Given the description of an element on the screen output the (x, y) to click on. 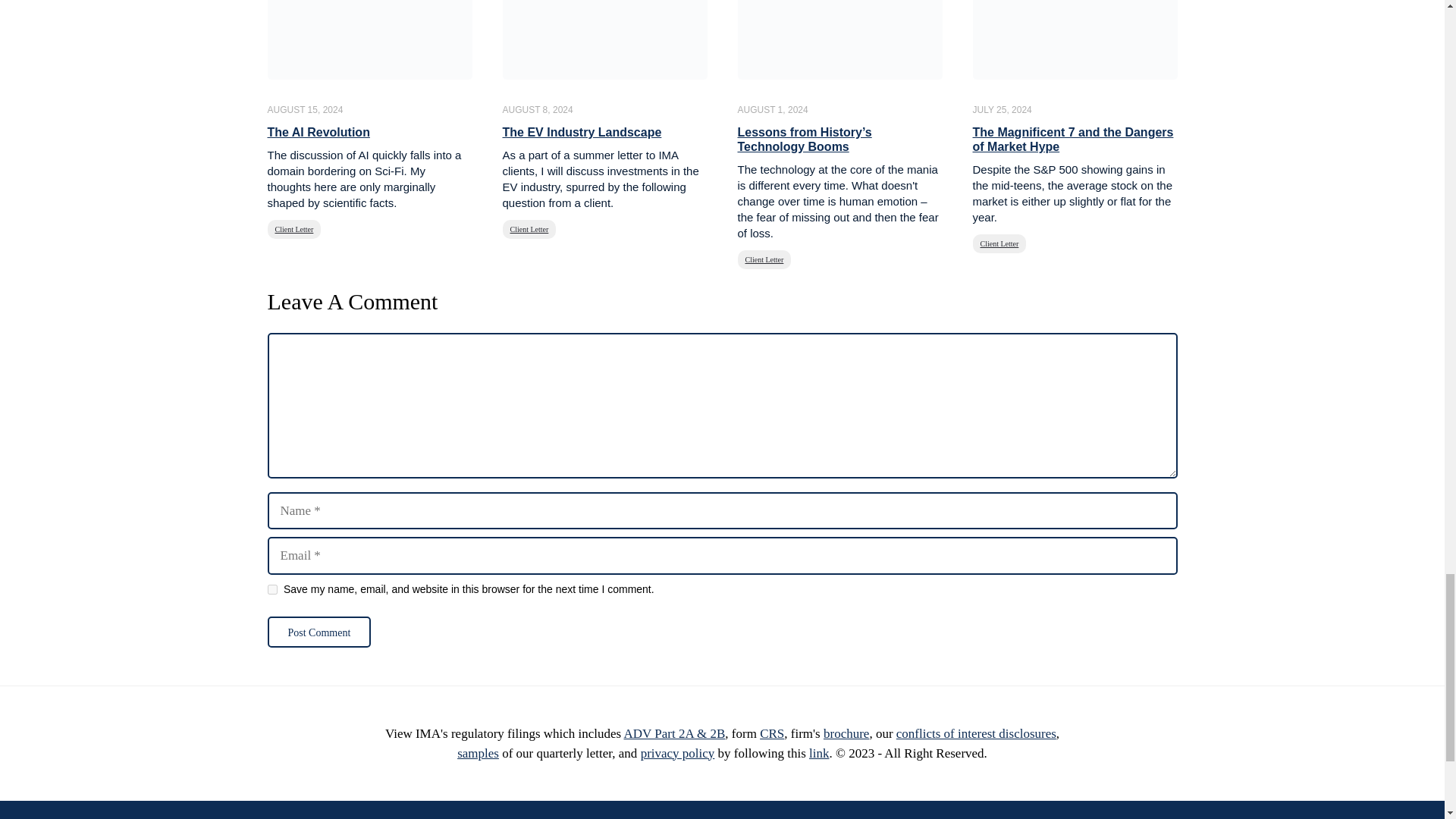
Client Letter (763, 259)
yes (271, 589)
The Magnificent 7 and the Dangers of Market Hype (1072, 139)
Client Letter (529, 229)
Client Letter (293, 229)
The AI Revolution (317, 132)
Post Comment (318, 631)
The EV Industry Landscape (581, 132)
